Given the description of an element on the screen output the (x, y) to click on. 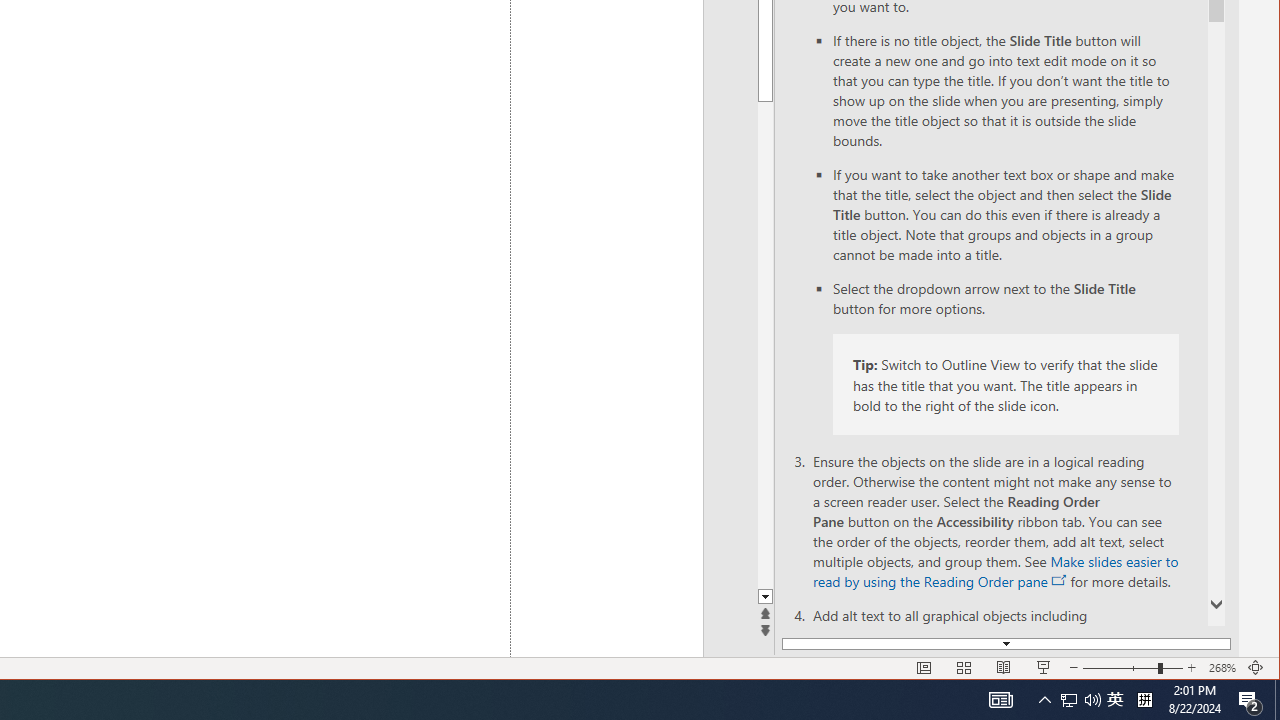
openinnewwindow (1059, 580)
Page down (970, 345)
Tray Input Indicator - Chinese (Simplified, China) (1144, 699)
Show desktop (1277, 699)
Notification Chevron (1044, 699)
Q2790: 100% (1092, 699)
